Given the description of an element on the screen output the (x, y) to click on. 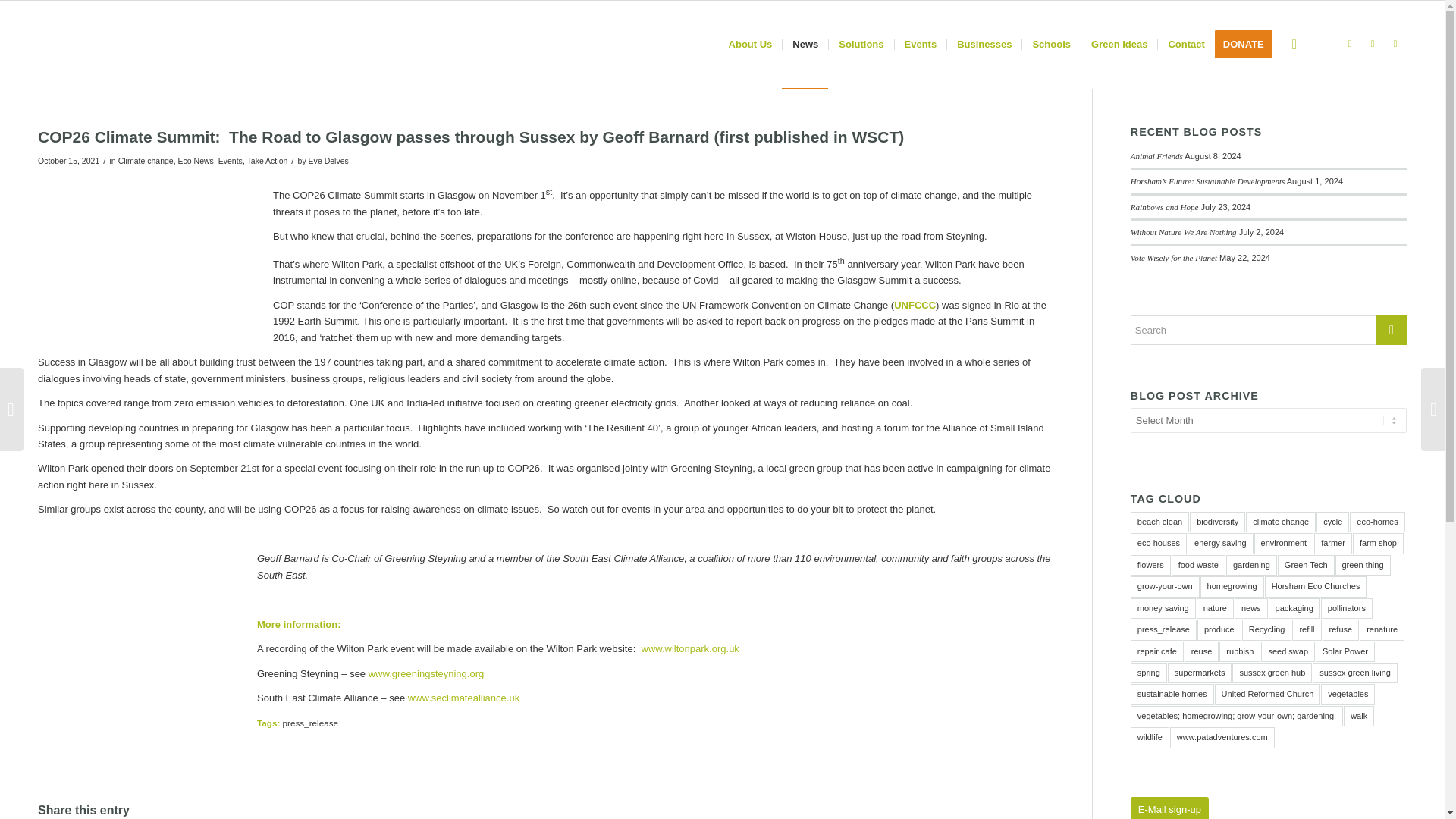
Youtube (1395, 43)
Instagram (1372, 43)
Facebook (1349, 43)
Posts by Eve Delves (328, 160)
